Given the description of an element on the screen output the (x, y) to click on. 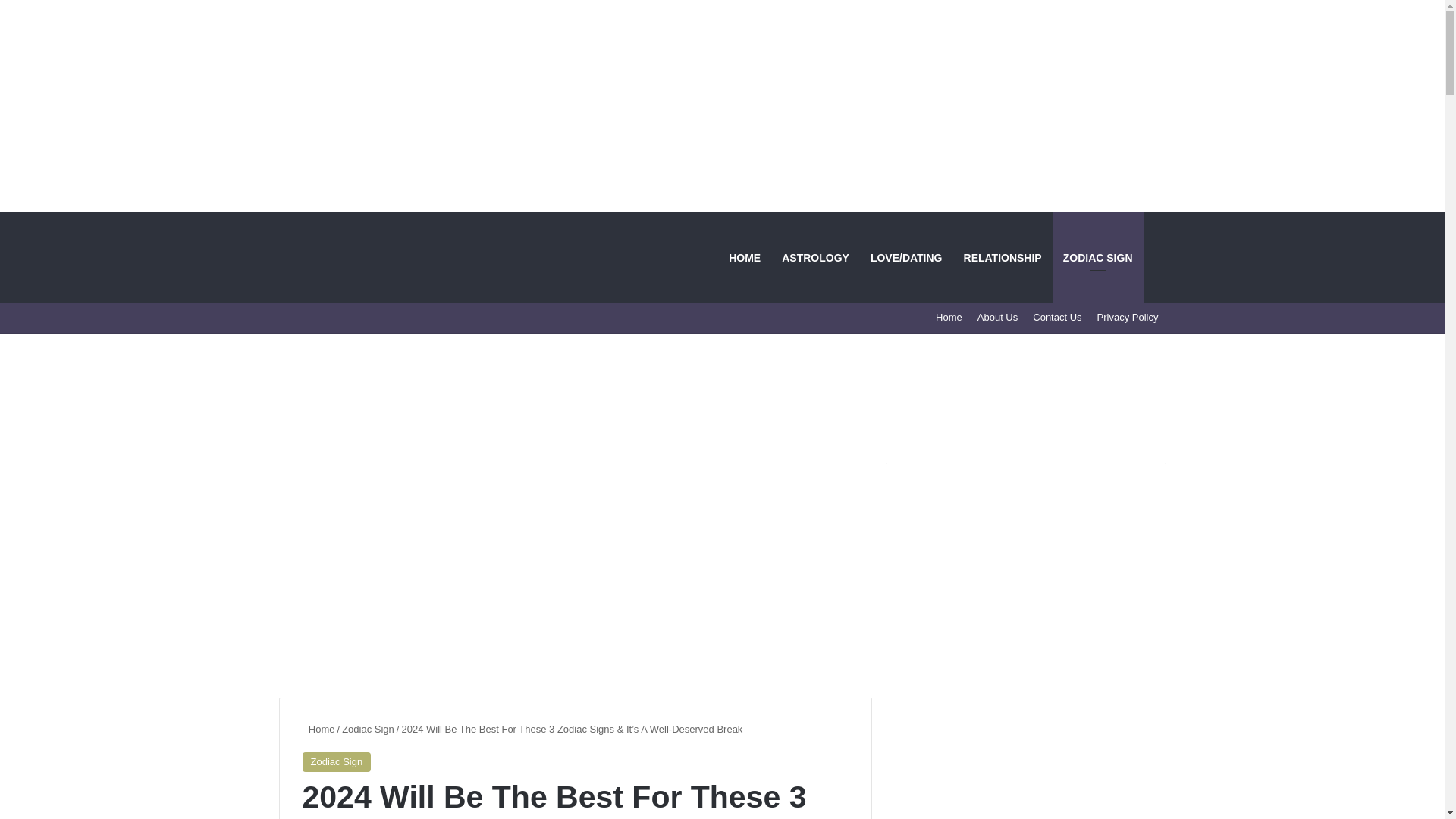
RELATIONSHIP (1002, 257)
Privacy Policy (1127, 317)
About Us (997, 317)
Zodiac Sign (336, 762)
Zodiac Sign (368, 728)
ZODIAC SIGN (1097, 257)
Home (948, 317)
Home (317, 728)
Contact Us (1057, 317)
ASTROLOGY (815, 257)
